Given the description of an element on the screen output the (x, y) to click on. 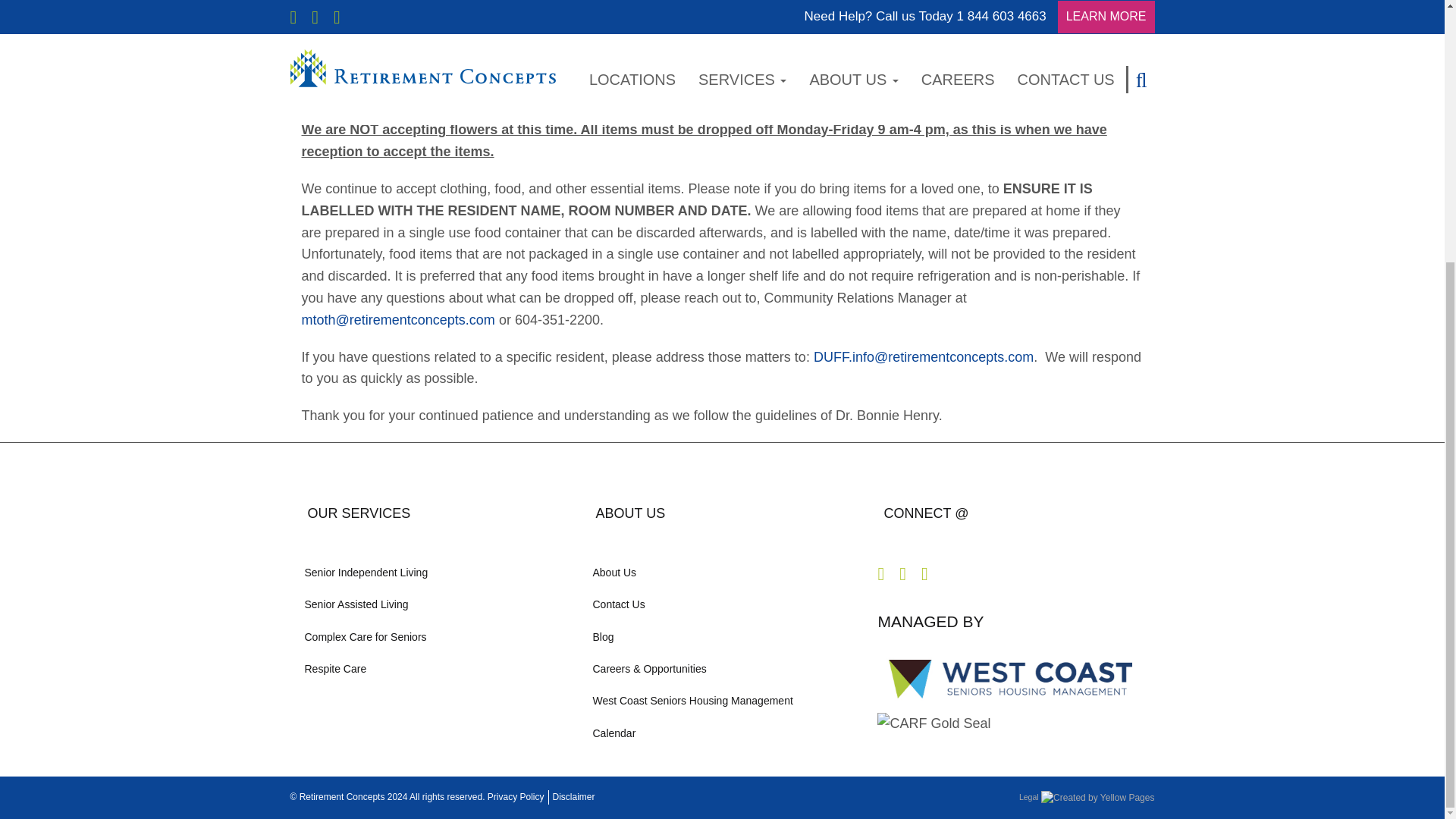
Complex Care for Seniors (434, 636)
About Us (721, 572)
West Coast Seniors Housing Management (721, 700)
Privacy Policy (515, 796)
Contact Us (721, 603)
Senior Independent Living (434, 572)
Calendar (721, 733)
Respite Care (434, 668)
Senior Assisted Living (434, 603)
Blog (721, 636)
